Given the description of an element on the screen output the (x, y) to click on. 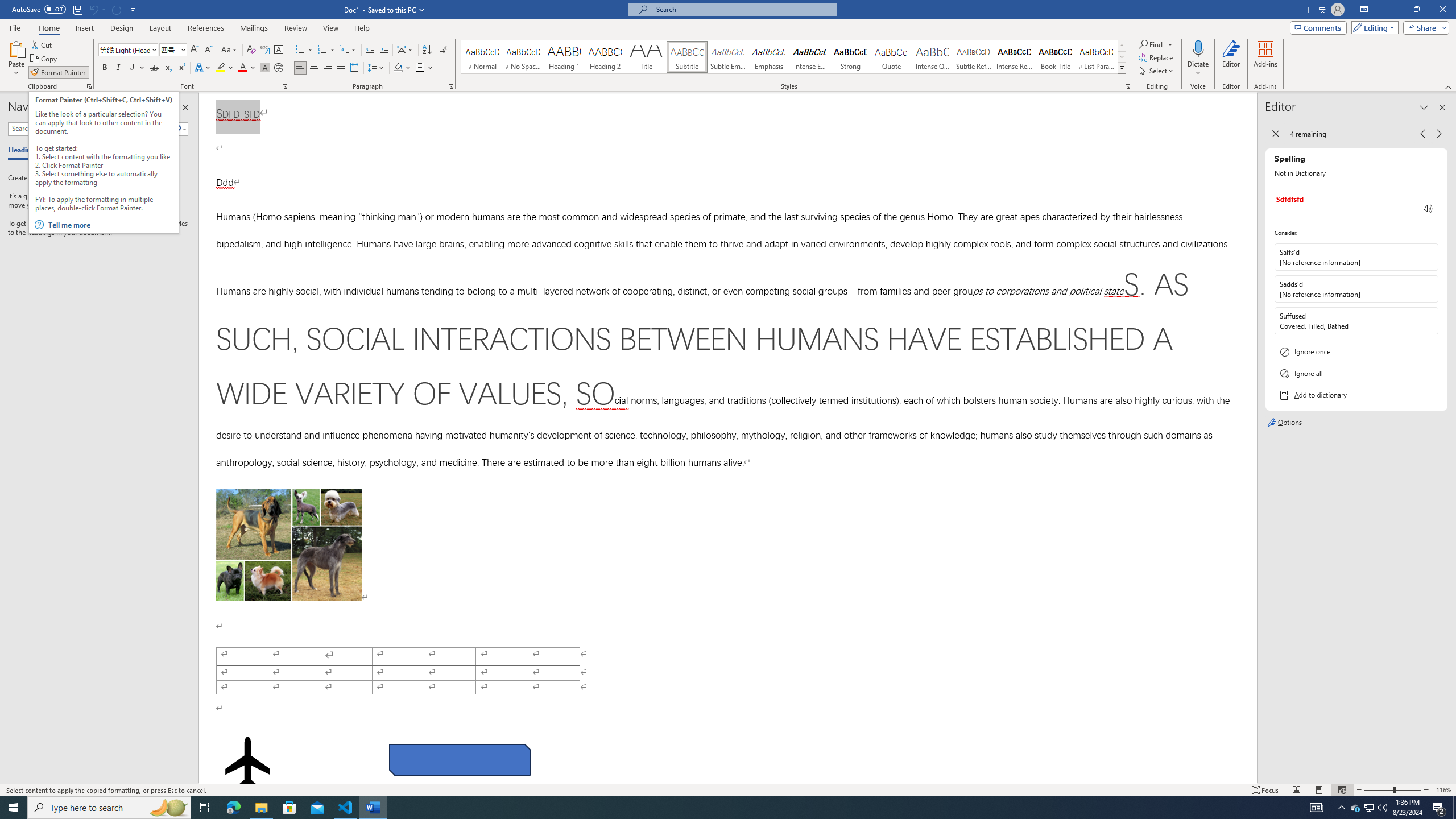
Text Effects and Typography (202, 67)
Font (128, 49)
Superscript (180, 67)
System (6, 6)
Numbering (322, 49)
AutomationID: QuickStylesGallery (794, 56)
Options (1356, 422)
Layout (160, 28)
Font... (285, 85)
Bold (104, 67)
Increase Indent (383, 49)
Back (1275, 133)
Close (1442, 9)
